Given the description of an element on the screen output the (x, y) to click on. 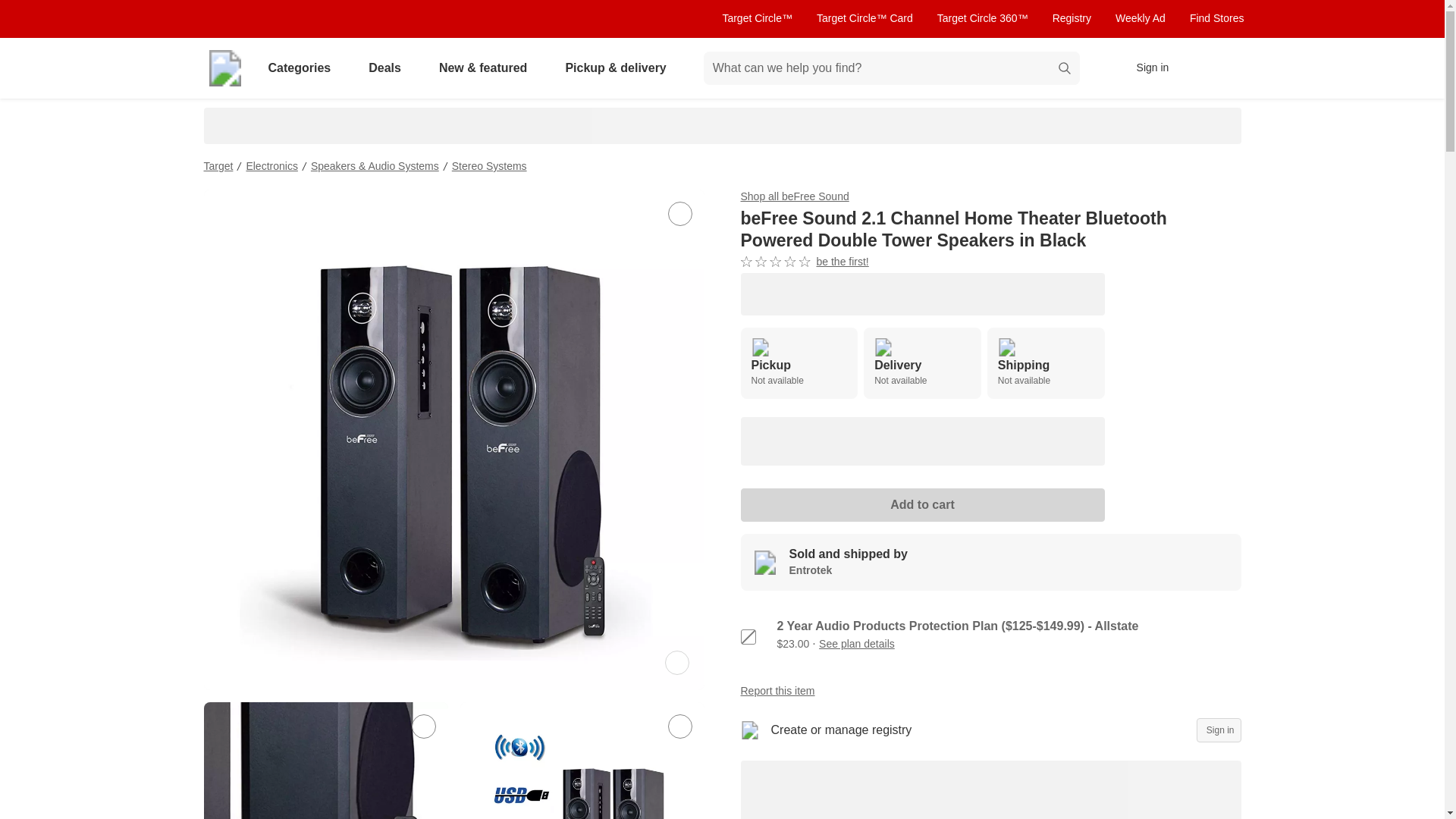
Add to cart (989, 561)
Skip images (803, 261)
Categories (921, 504)
Find Stores (301, 68)
Stereo Systems (747, 636)
Target (1216, 18)
Deals (489, 165)
Report this item (217, 165)
Electronics (387, 68)
